Given the description of an element on the screen output the (x, y) to click on. 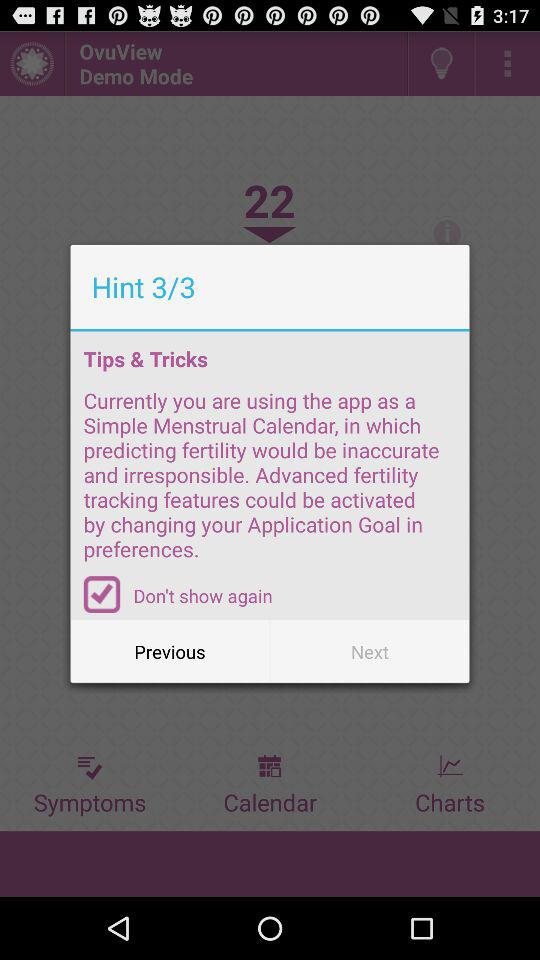
launch the icon next to next item (169, 651)
